Given the description of an element on the screen output the (x, y) to click on. 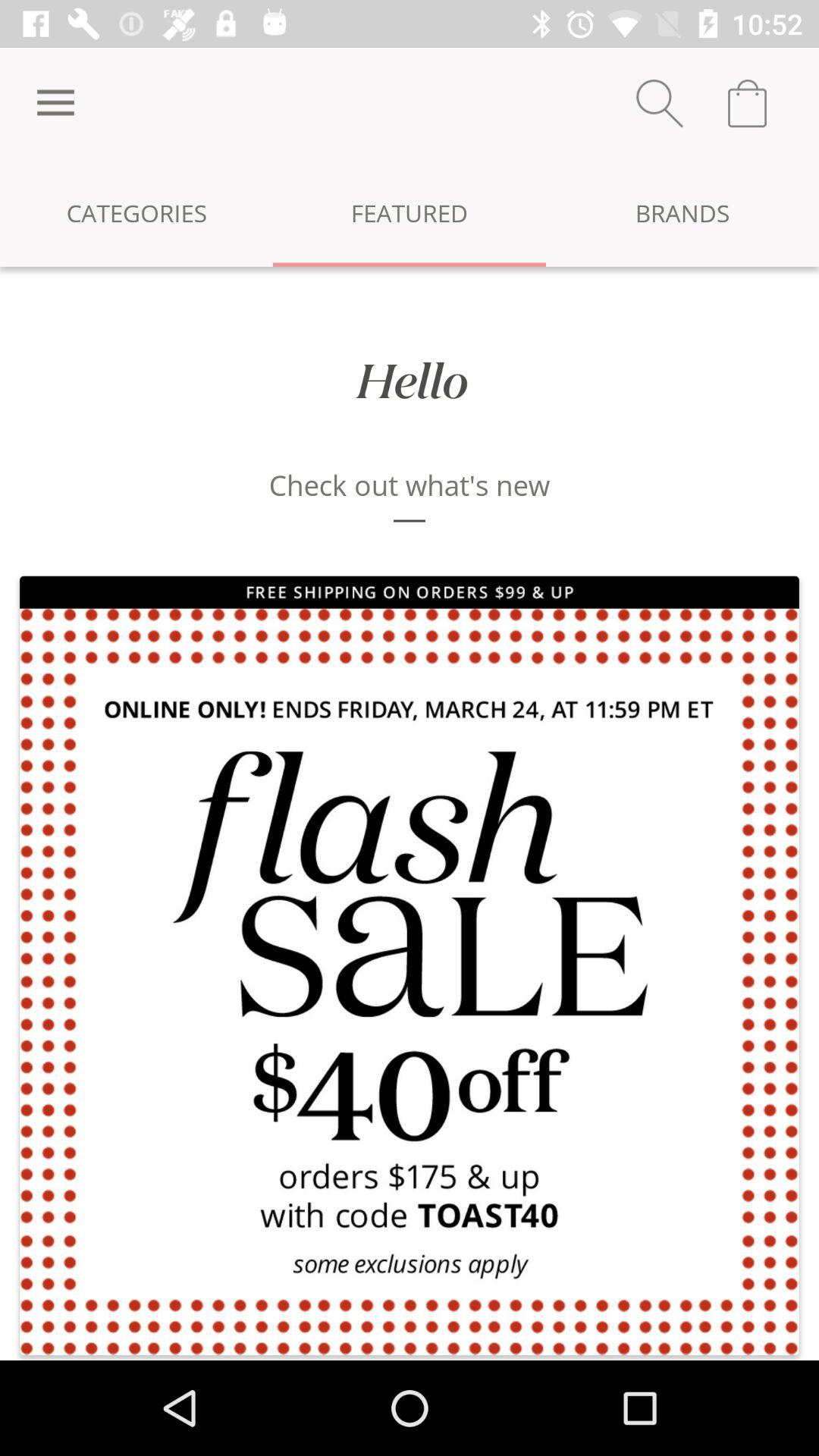
search bar (659, 103)
